Given the description of an element on the screen output the (x, y) to click on. 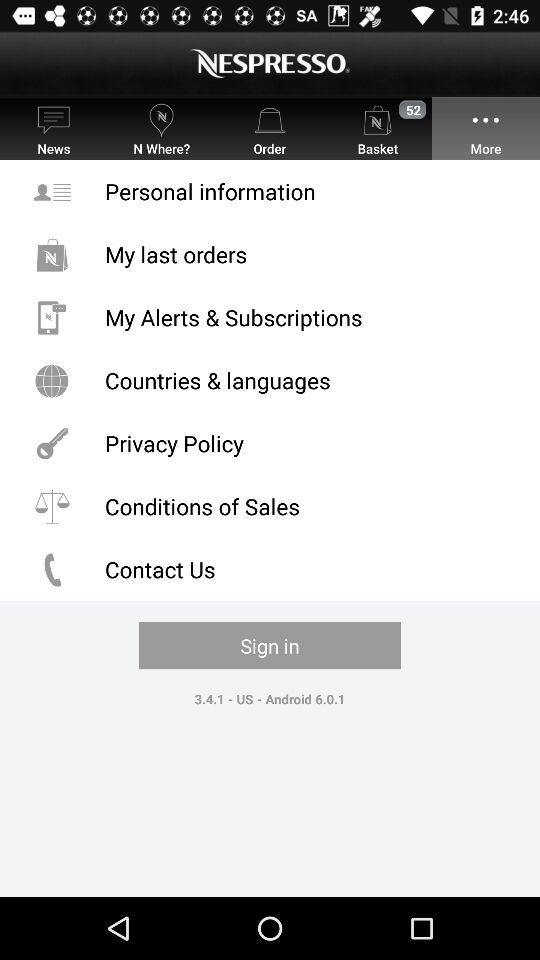
scroll to the my alerts & subscriptions  item (270, 317)
